Given the description of an element on the screen output the (x, y) to click on. 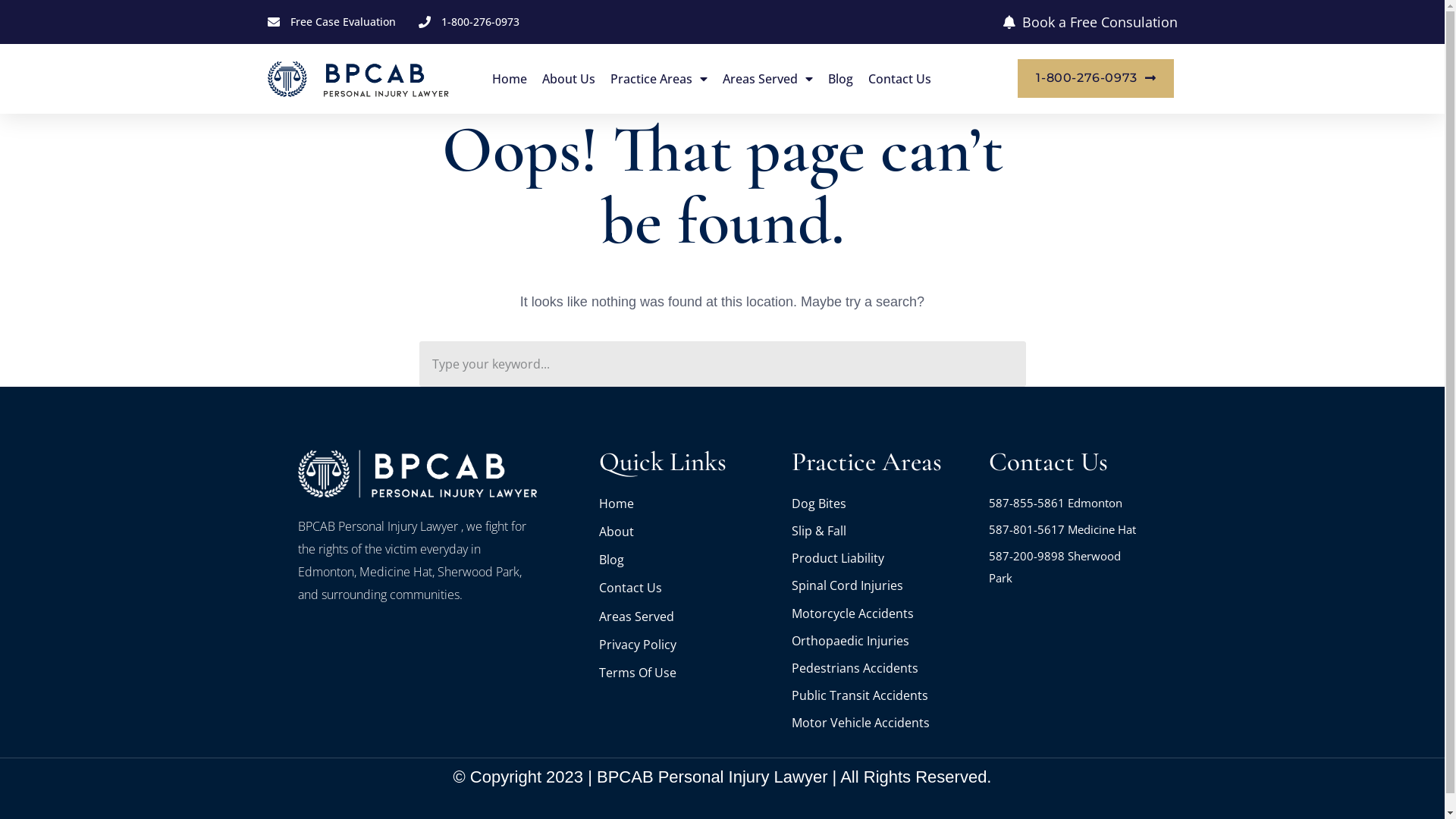
Contact Us Element type: text (899, 78)
Contact Us Element type: text (687, 587)
Orthopaedic Injuries Element type: text (882, 640)
587-200-9898 Sherwood Park Element type: text (1067, 566)
SEARCH Element type: text (1002, 363)
587-801-5617 Medicine Hat Element type: text (1067, 528)
Pedestrians Accidents Element type: text (882, 667)
Motor Vehicle Accidents Element type: text (882, 722)
Blog Element type: text (840, 78)
Spinal Cord Injuries Element type: text (882, 585)
1-800-276-0973 Element type: text (1095, 78)
Product Liability Element type: text (882, 557)
587-855-5861 Edmonton Element type: text (1067, 502)
Search for: Element type: hover (721, 363)
Home Element type: text (509, 78)
Areas Served Element type: text (687, 616)
Practice Areas Element type: text (658, 78)
Public Transit Accidents Element type: text (882, 695)
Dog Bites Element type: text (882, 503)
Areas Served Element type: text (767, 78)
About Element type: text (687, 531)
Motorcycle Accidents Element type: text (882, 613)
Slip & Fall Element type: text (882, 530)
About Us Element type: text (568, 78)
Home Element type: text (687, 503)
